Given the description of an element on the screen output the (x, y) to click on. 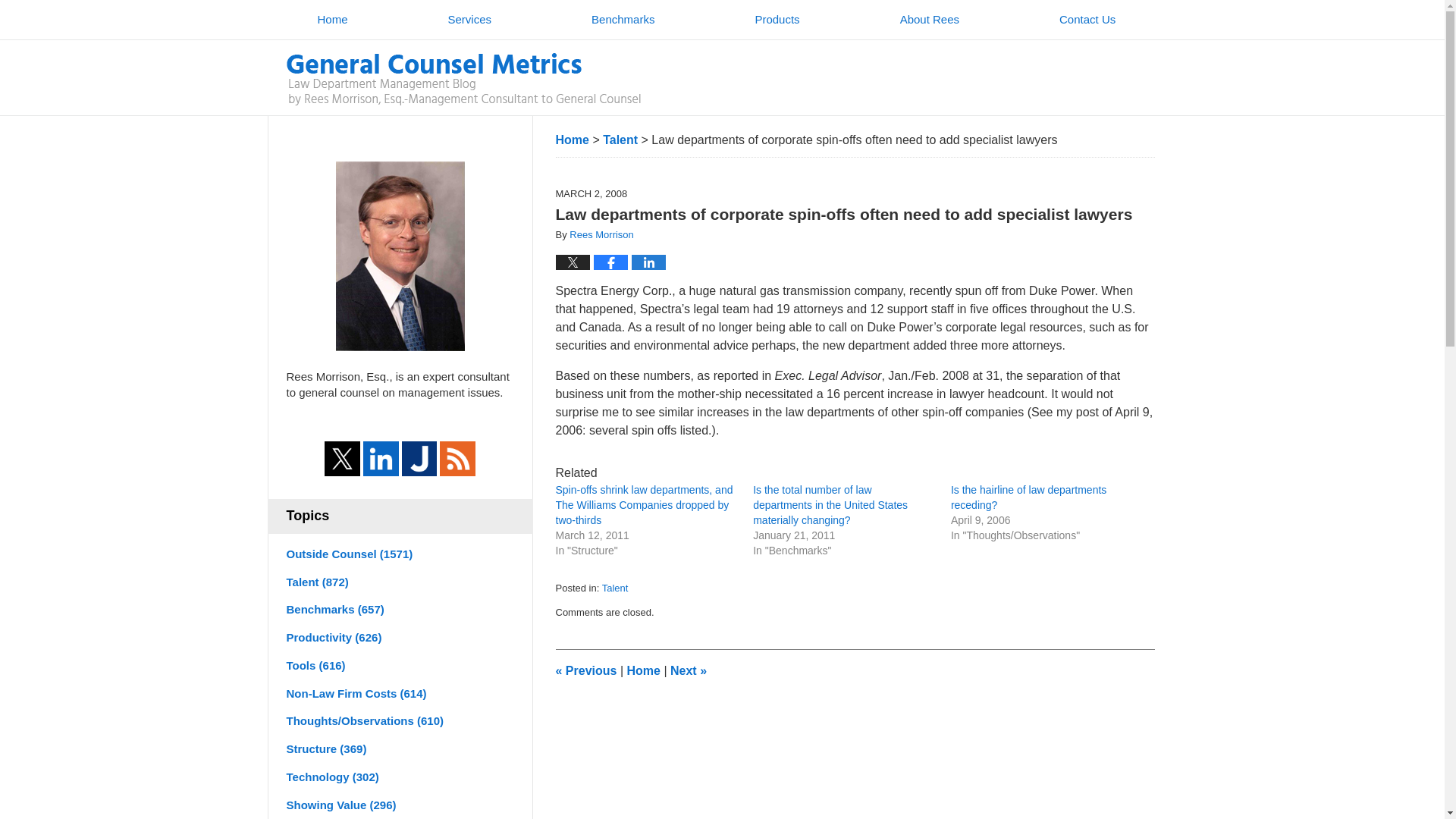
Rees Morrison (601, 234)
Talent (615, 587)
Twitter (341, 458)
Benchmarks (622, 19)
LinkedIn (380, 458)
Products (776, 19)
Home (642, 670)
Services (469, 19)
Home (331, 19)
Is the hairline of law departments receding? (1028, 497)
Talent (619, 139)
